Given the description of an element on the screen output the (x, y) to click on. 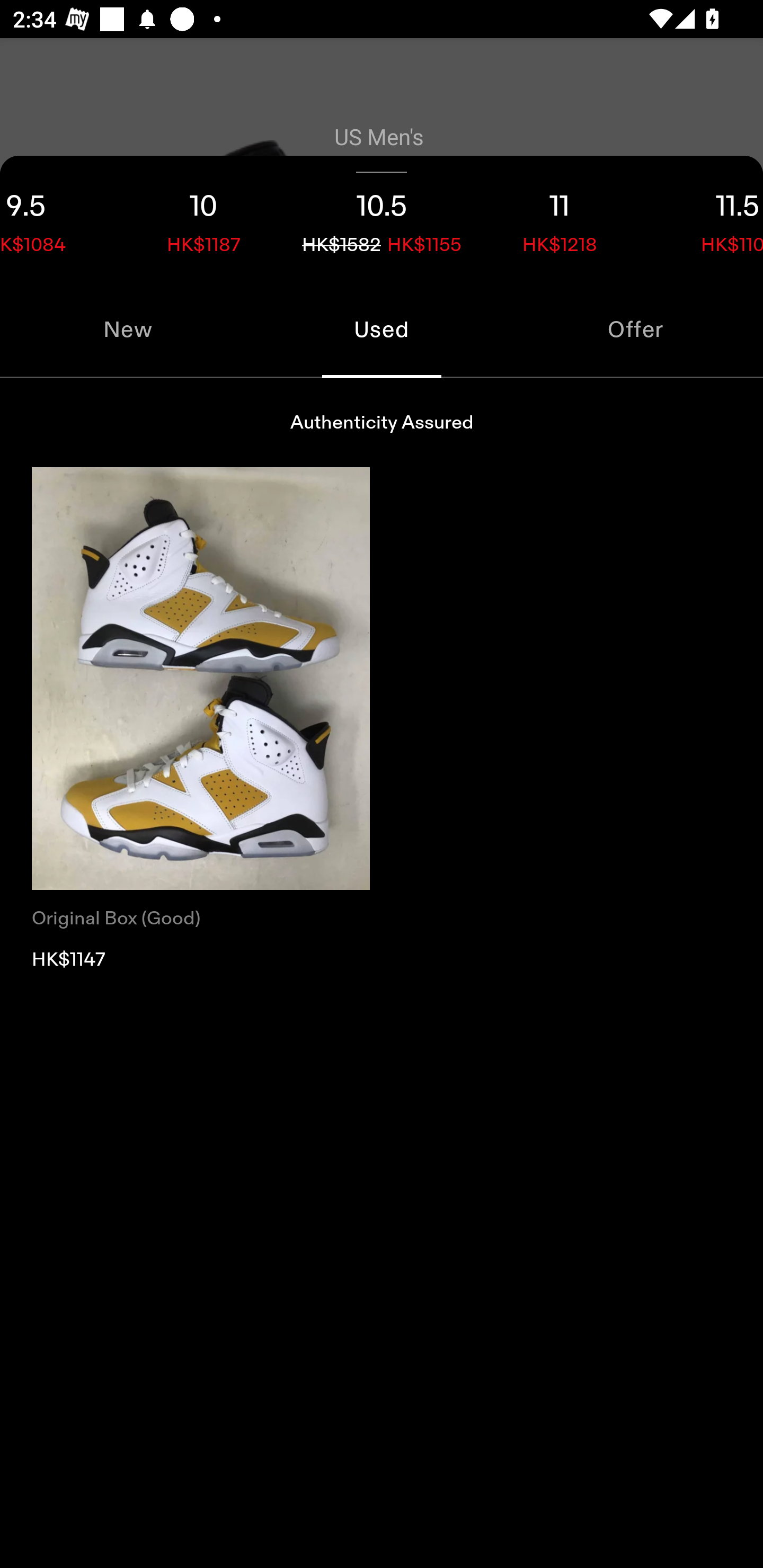
9.5 HK$1084 (57, 218)
10 HK$1187 (203, 218)
10.5 HK$1582 HK$1155 (381, 218)
11 HK$1218 (559, 218)
11.5 HK$1107 (705, 218)
New (127, 329)
Offer (635, 329)
Authenticity Assured (381, 422)
Original Box (Good) HK$1147 (201, 719)
